Given the description of an element on the screen output the (x, y) to click on. 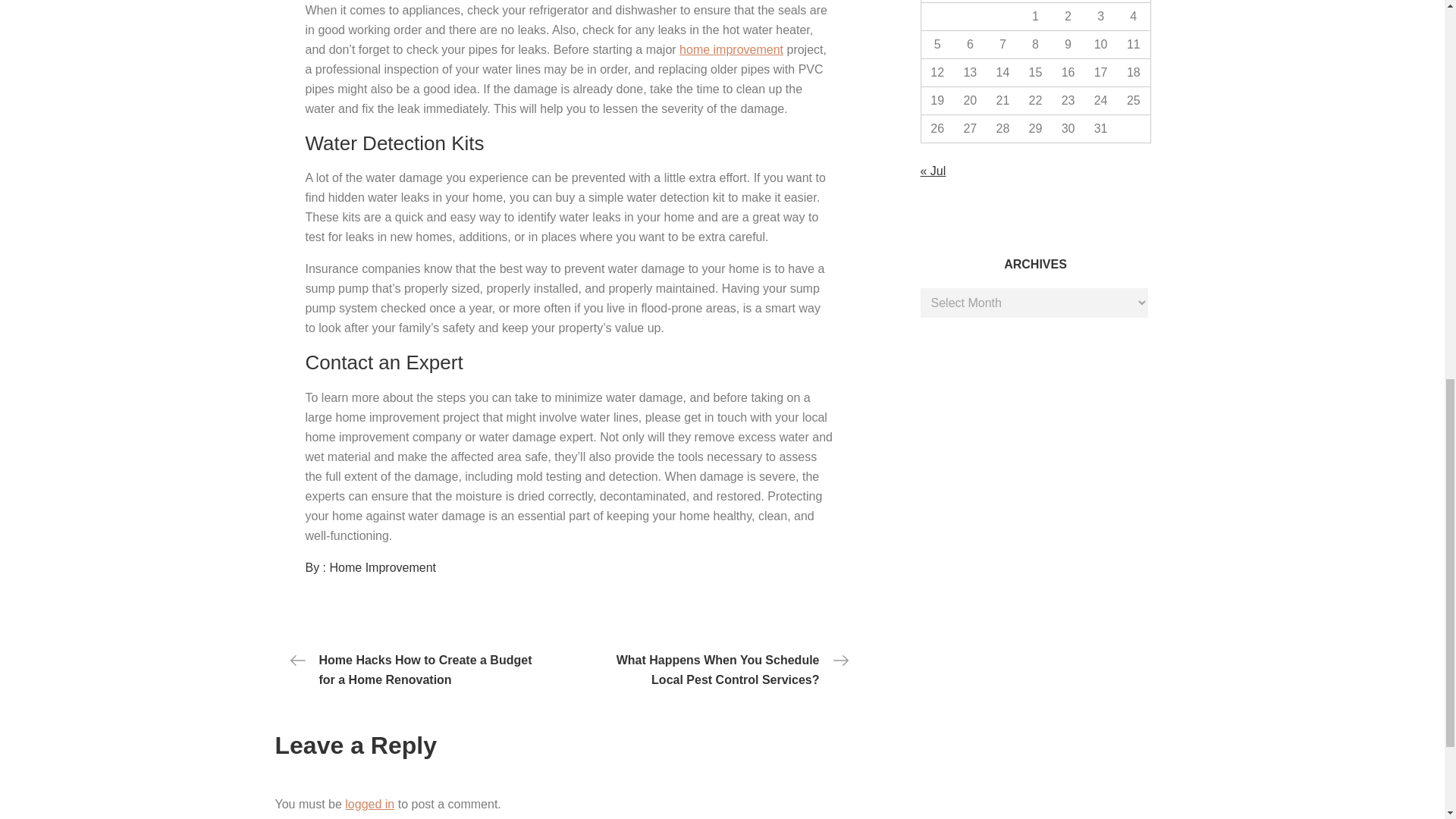
logged in (369, 803)
Monday (936, 1)
Friday (1067, 1)
Tuesday (970, 1)
Home Improvement (383, 567)
Wednesday (1003, 1)
home improvement (731, 49)
Sunday (1133, 1)
Thursday (1035, 1)
Saturday (1100, 1)
